Given the description of an element on the screen output the (x, y) to click on. 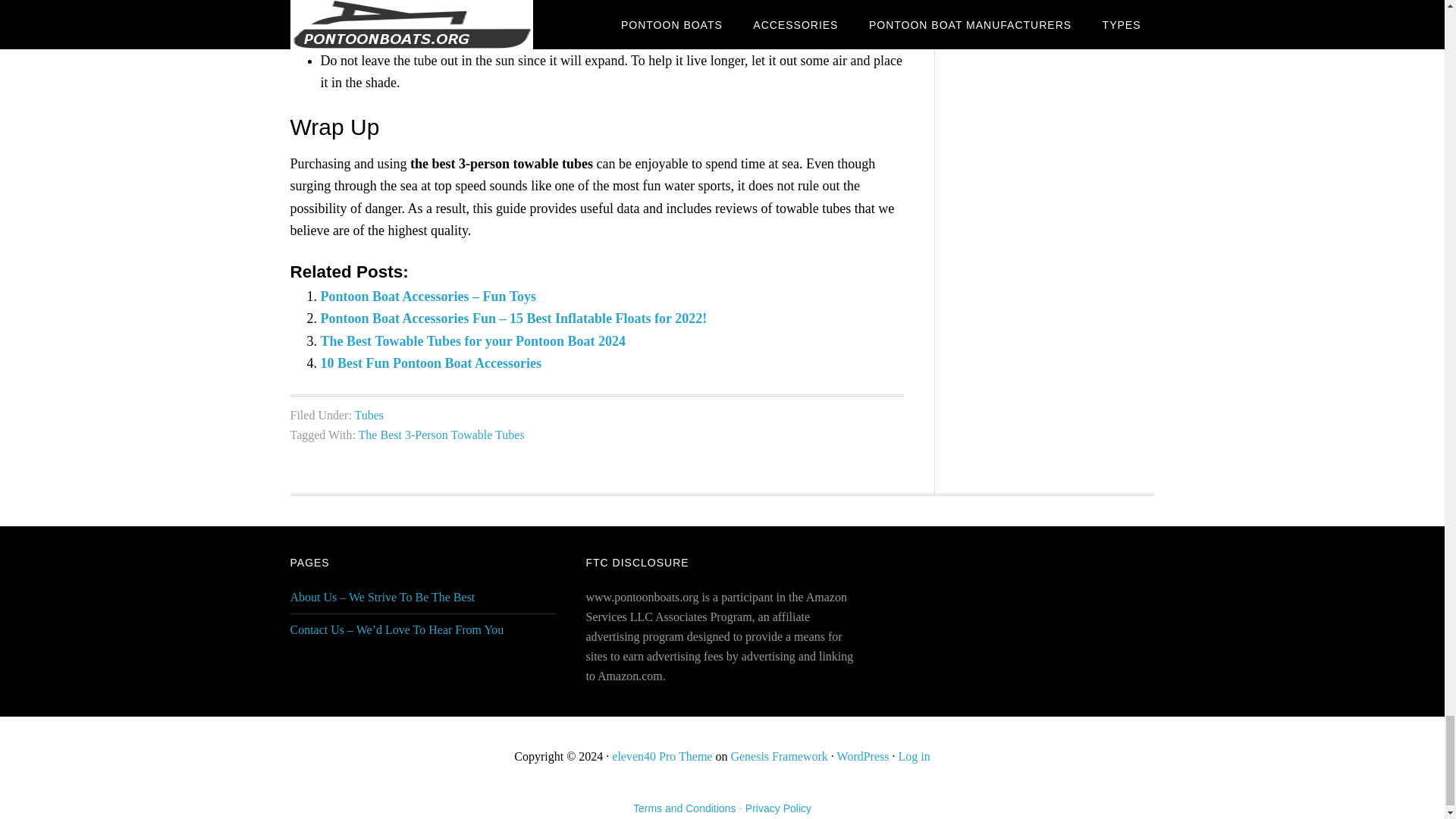
10 Best Fun Pontoon Boat Accessories (430, 363)
The Best Towable Tubes for your Pontoon Boat 2024 (472, 340)
